Given the description of an element on the screen output the (x, y) to click on. 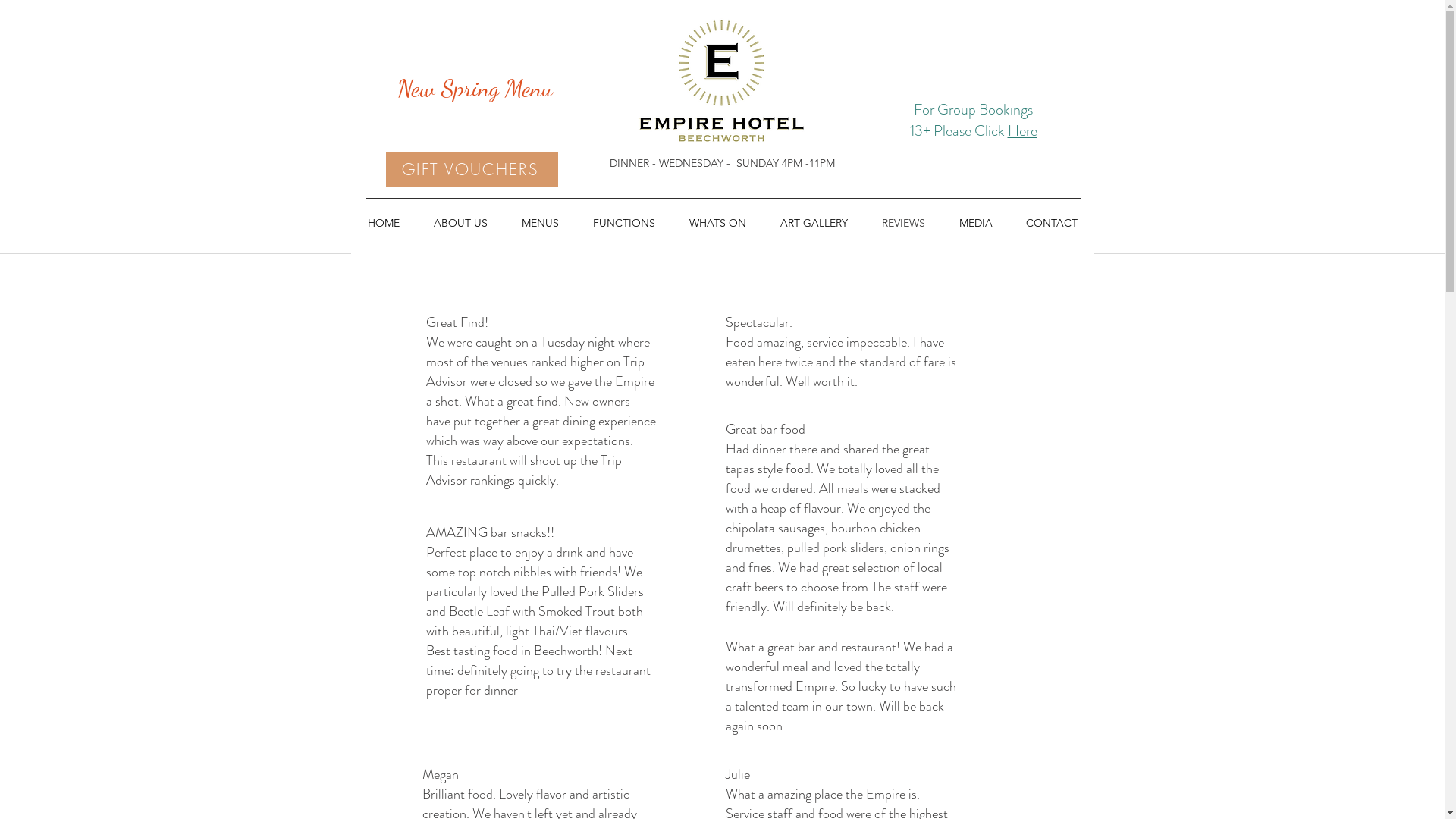
ABOUT US Element type: text (461, 222)
For Group Bookings
13+ Please Click Here Element type: text (973, 119)
Embedded Content Element type: hover (972, 176)
ART GALLERY Element type: text (813, 222)
MENUS Element type: text (540, 222)
HOME Element type: text (383, 222)
Spectacular. Element type: text (757, 322)
WHATS ON Element type: text (716, 222)
MEDIA Element type: text (974, 222)
Great bar food Element type: text (764, 429)
 New Spring Menu Element type: text (471, 86)
CONTACT Element type: text (1050, 222)
FUNCTIONS Element type: text (624, 222)
REVIEWS Element type: text (902, 222)
Great Find! Element type: text (457, 322)
GIFT VOUCHERS Element type: text (471, 169)
